Given the description of an element on the screen output the (x, y) to click on. 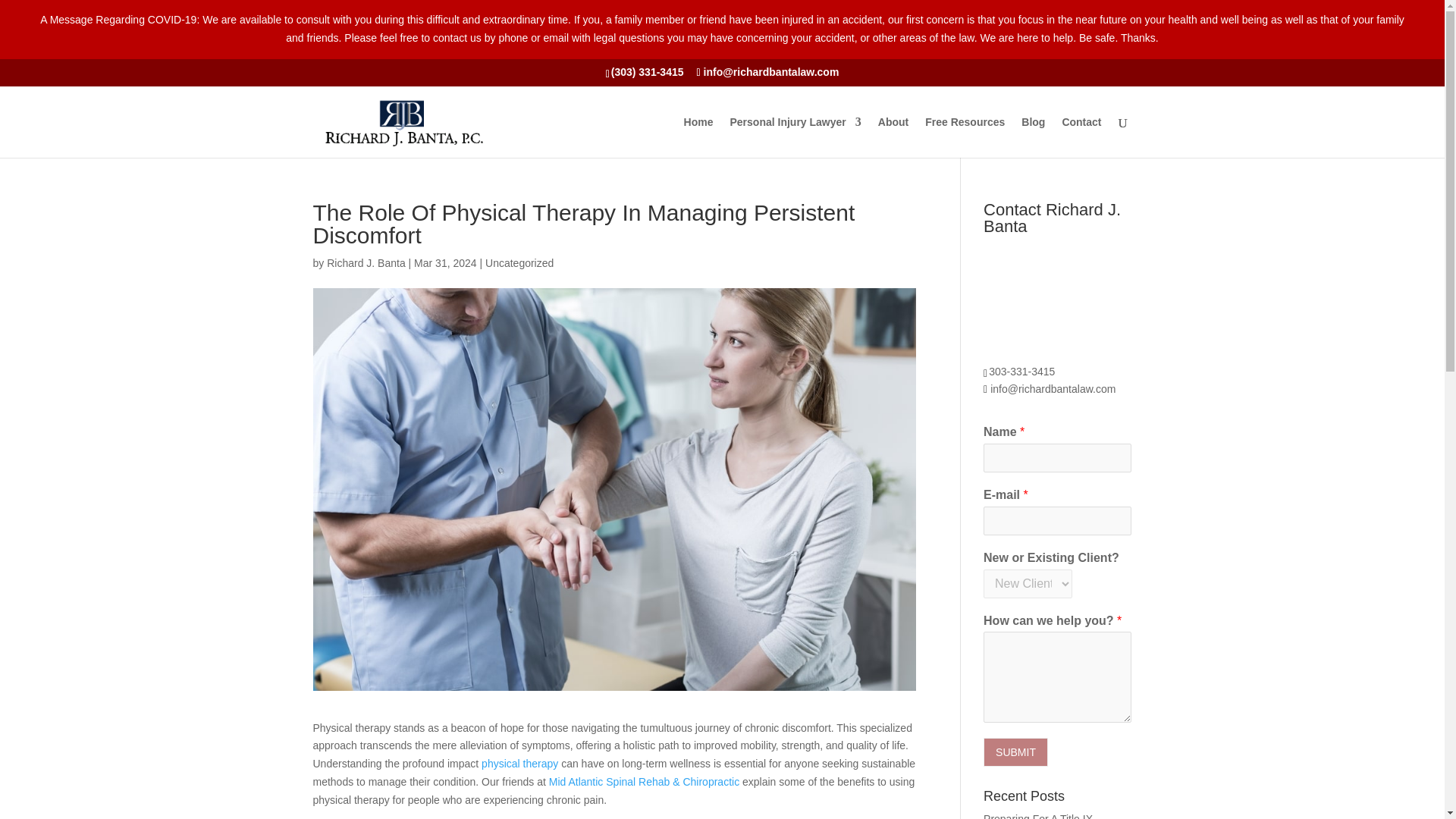
Preparing For A Title IX Hearing (1038, 816)
Free Resources (964, 137)
Contact (1080, 137)
SUBMIT (1016, 751)
303-331-3415 (1024, 371)
Personal Injury Lawyer (794, 137)
Uncategorized (518, 263)
physical therapy (519, 763)
